Given the description of an element on the screen output the (x, y) to click on. 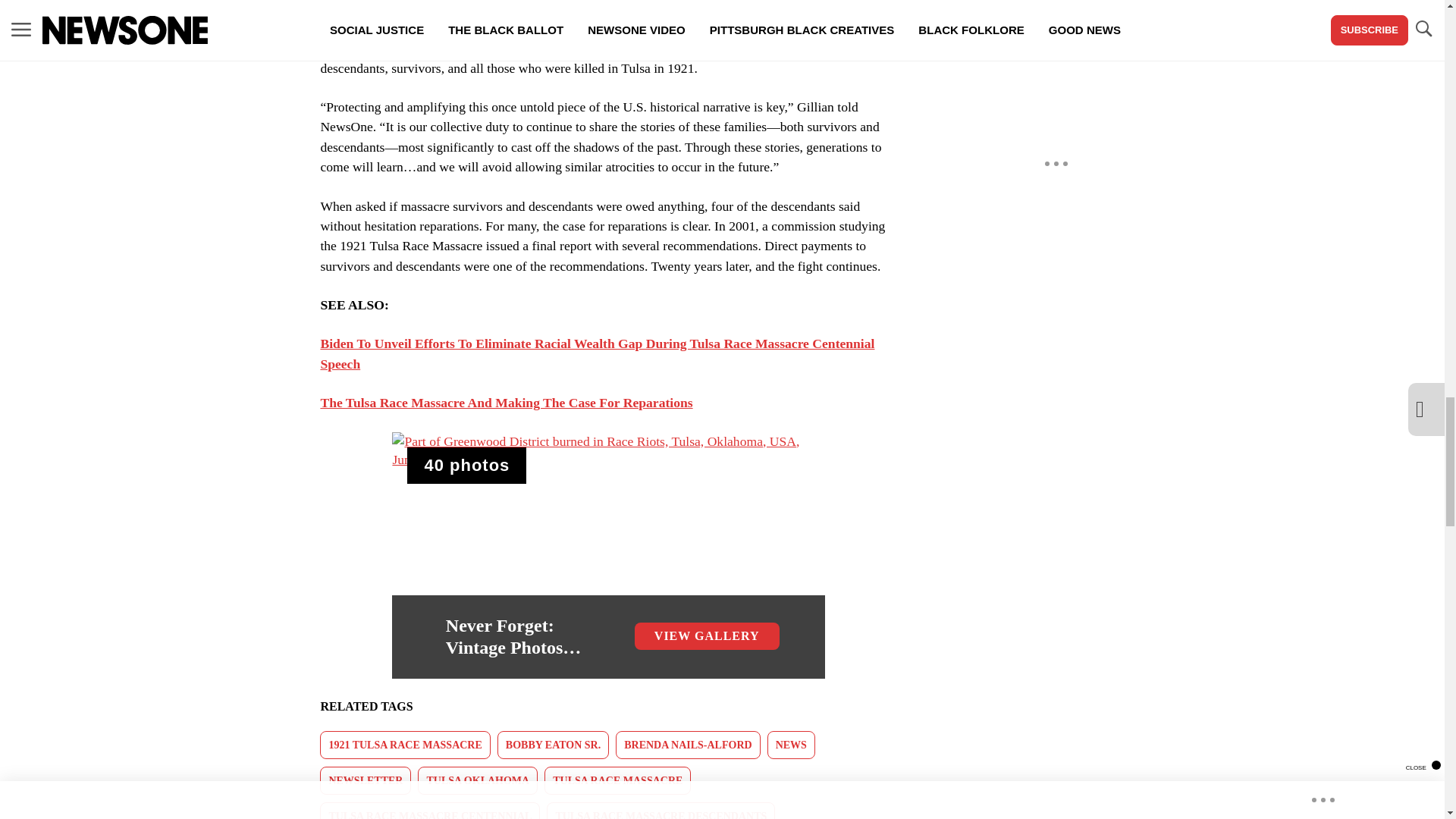
The Tulsa Race Massacre And Making The Case For Reparations (506, 402)
BRENDA NAILS-ALFORD (687, 745)
Media Playlist (466, 465)
BOBBY EATON SR. (552, 745)
1921 TULSA RACE MASSACRE (404, 745)
